Given the description of an element on the screen output the (x, y) to click on. 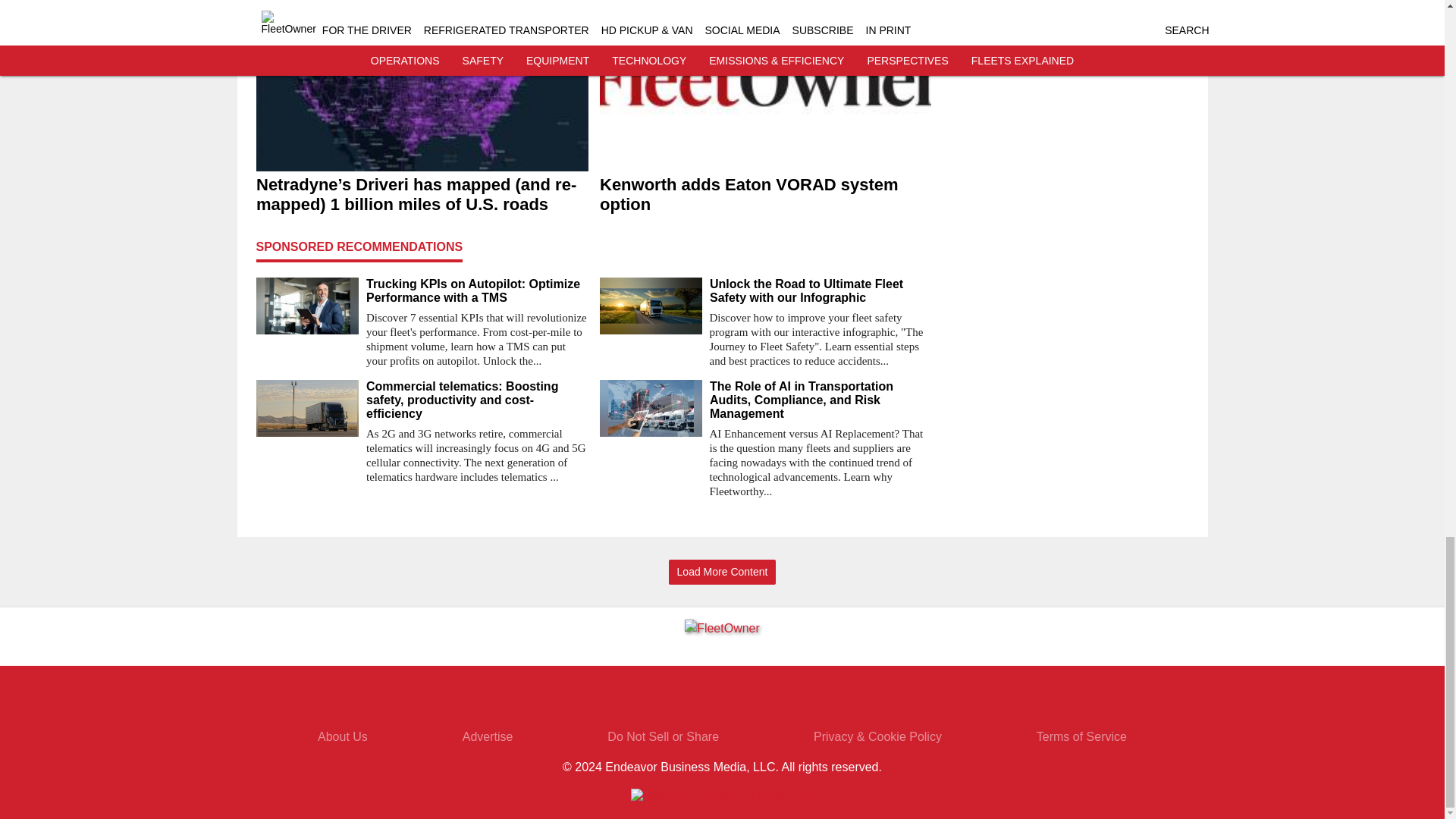
Kenworth adds Eaton VORAD system option (764, 194)
Trucking KPIs on Autopilot: Optimize Performance with a TMS (476, 290)
